Given the description of an element on the screen output the (x, y) to click on. 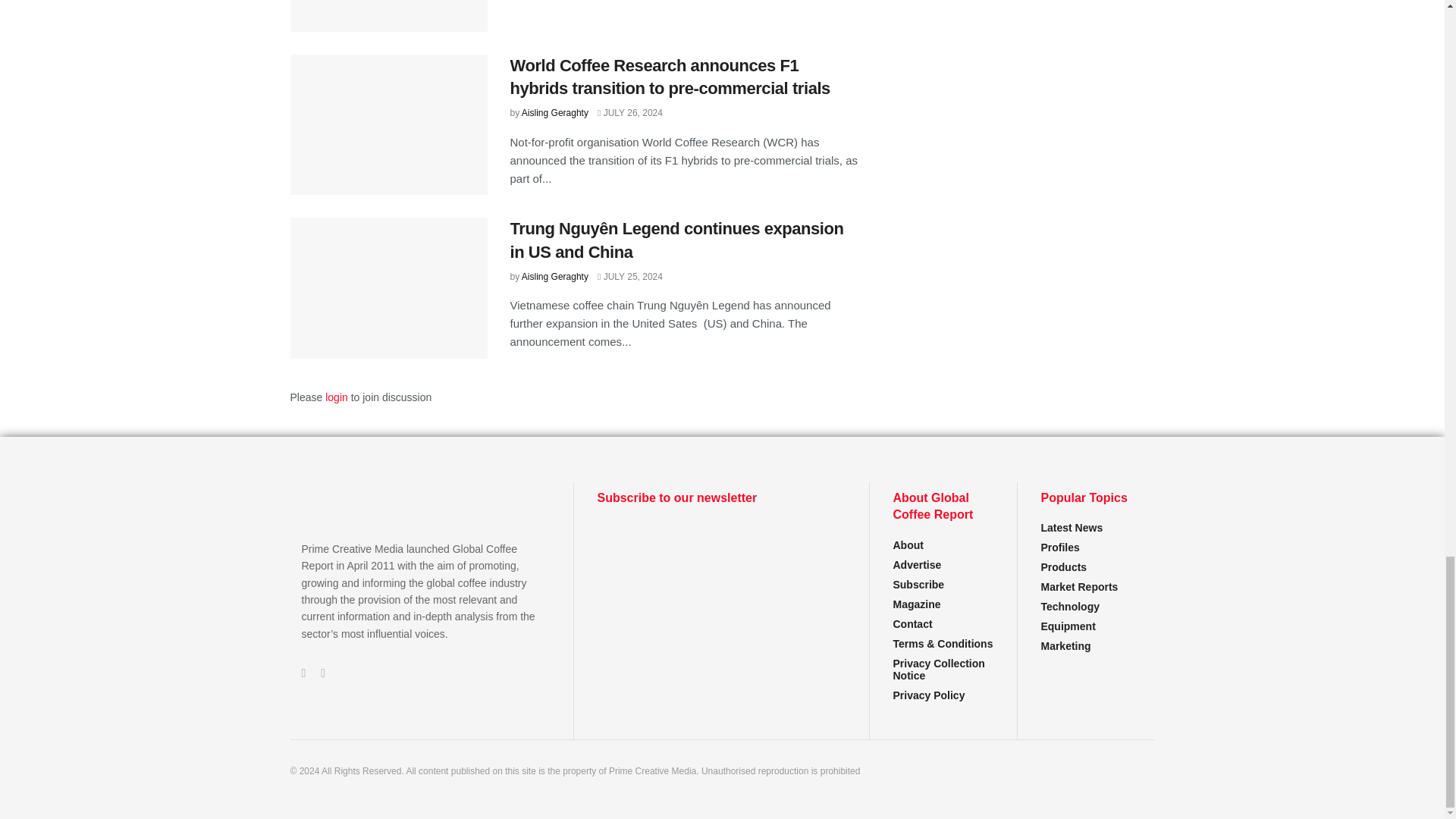
Newsletter signup for Footer (720, 578)
